Given the description of an element on the screen output the (x, y) to click on. 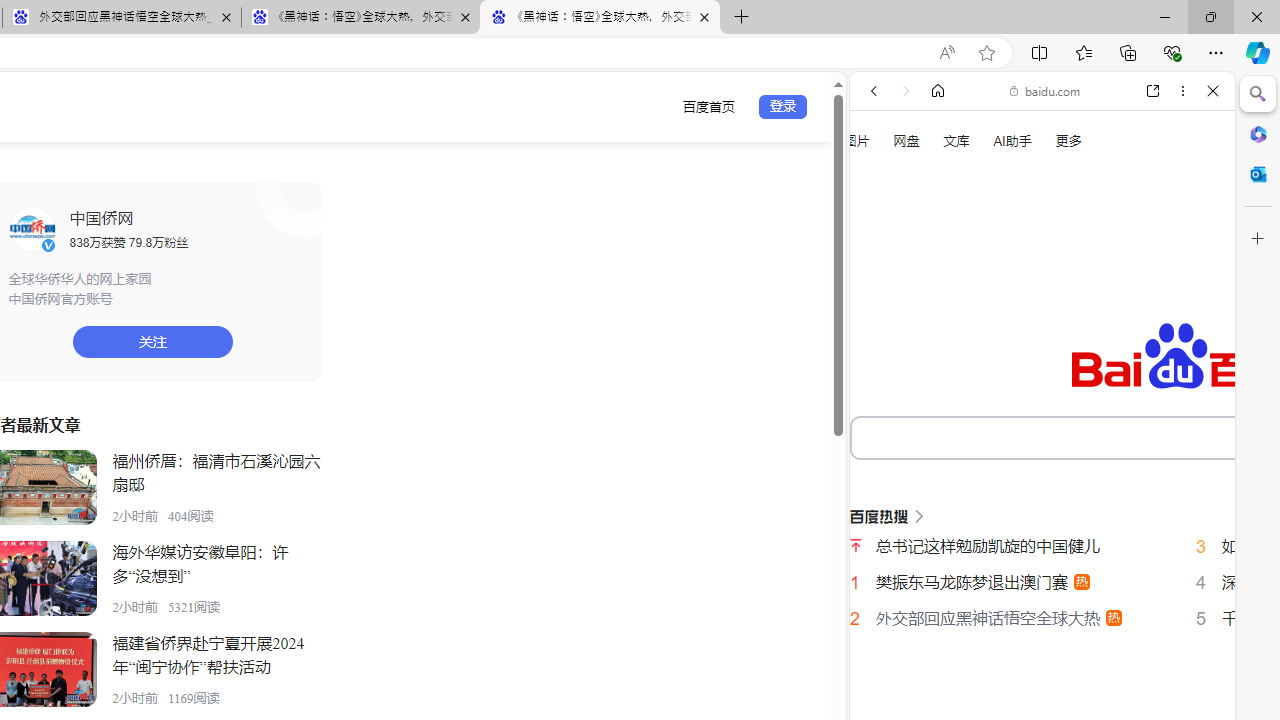
Search the web (1051, 137)
Search Filter, VIDEOS (1006, 339)
English (Uk) (1042, 628)
Preferences (1189, 337)
